Given the description of an element on the screen output the (x, y) to click on. 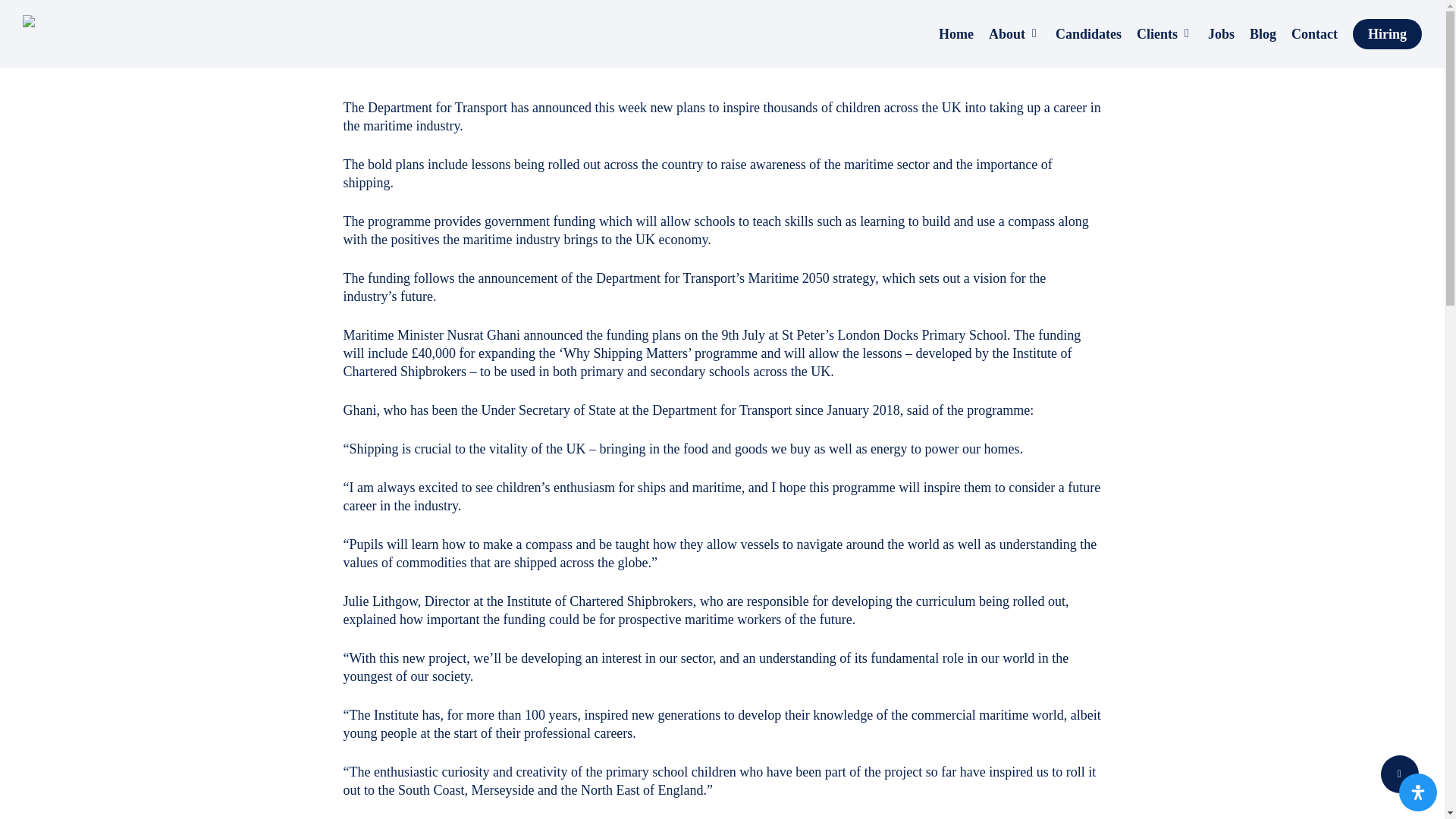
Hiring (1387, 33)
Contact (1314, 33)
Home (956, 33)
Clients (1164, 34)
Blog (1262, 33)
Jobs (1220, 33)
About (1014, 34)
Accessibility (1418, 792)
Candidates (1088, 33)
